Given the description of an element on the screen output the (x, y) to click on. 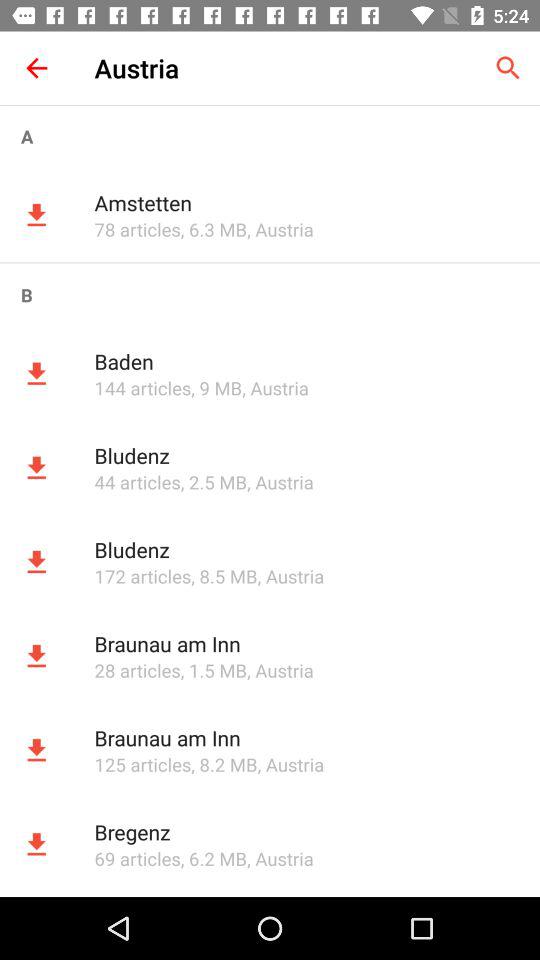
tap the app below the amstetten item (137, 229)
